Given the description of an element on the screen output the (x, y) to click on. 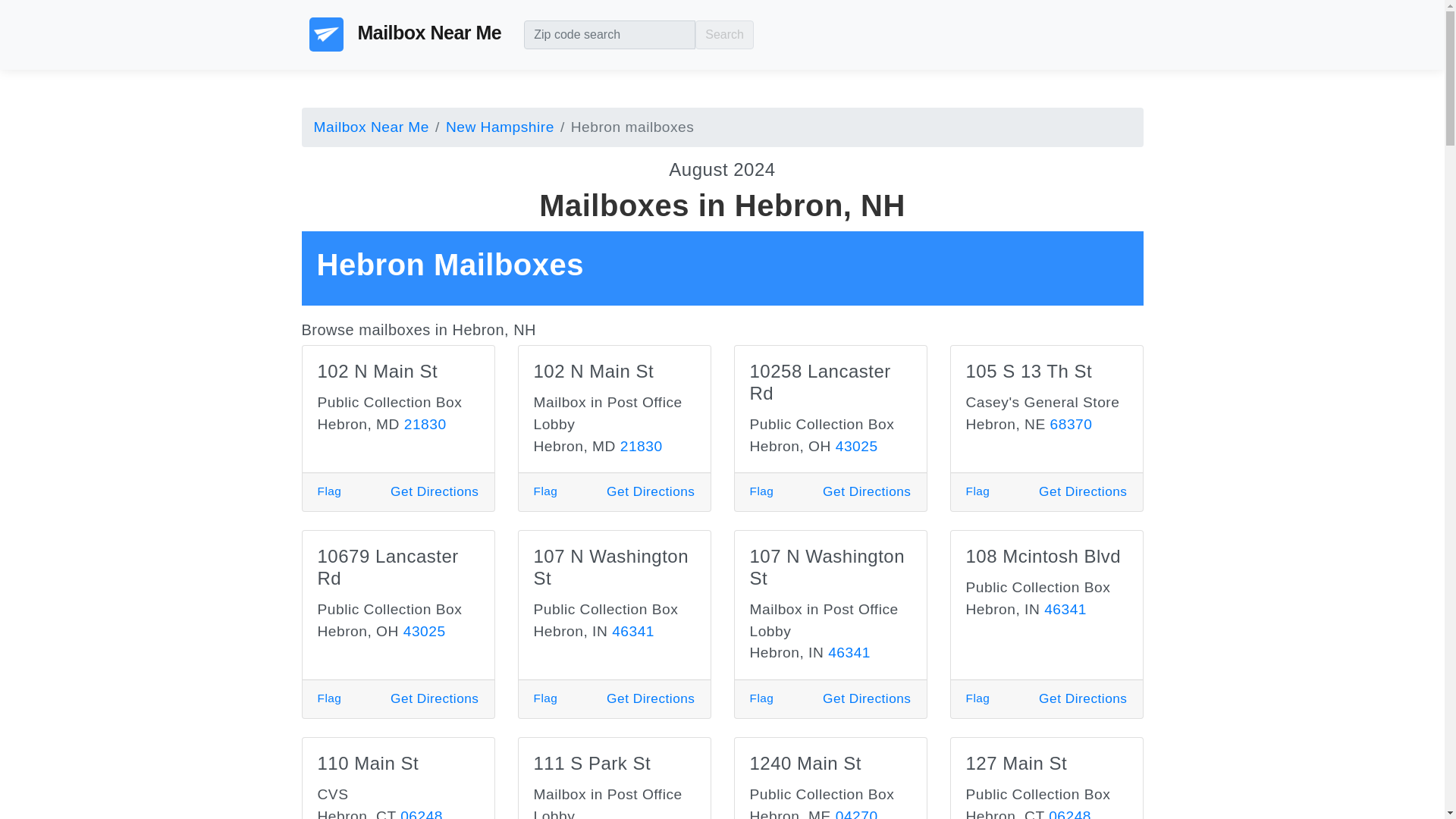
Get Directions (434, 698)
Flag (761, 490)
Flag (761, 697)
06248 (1069, 813)
Get Directions (434, 491)
46341 (849, 652)
21830 (641, 446)
Get Directions (650, 491)
Get Directions (1082, 491)
Flag (328, 490)
